Given the description of an element on the screen output the (x, y) to click on. 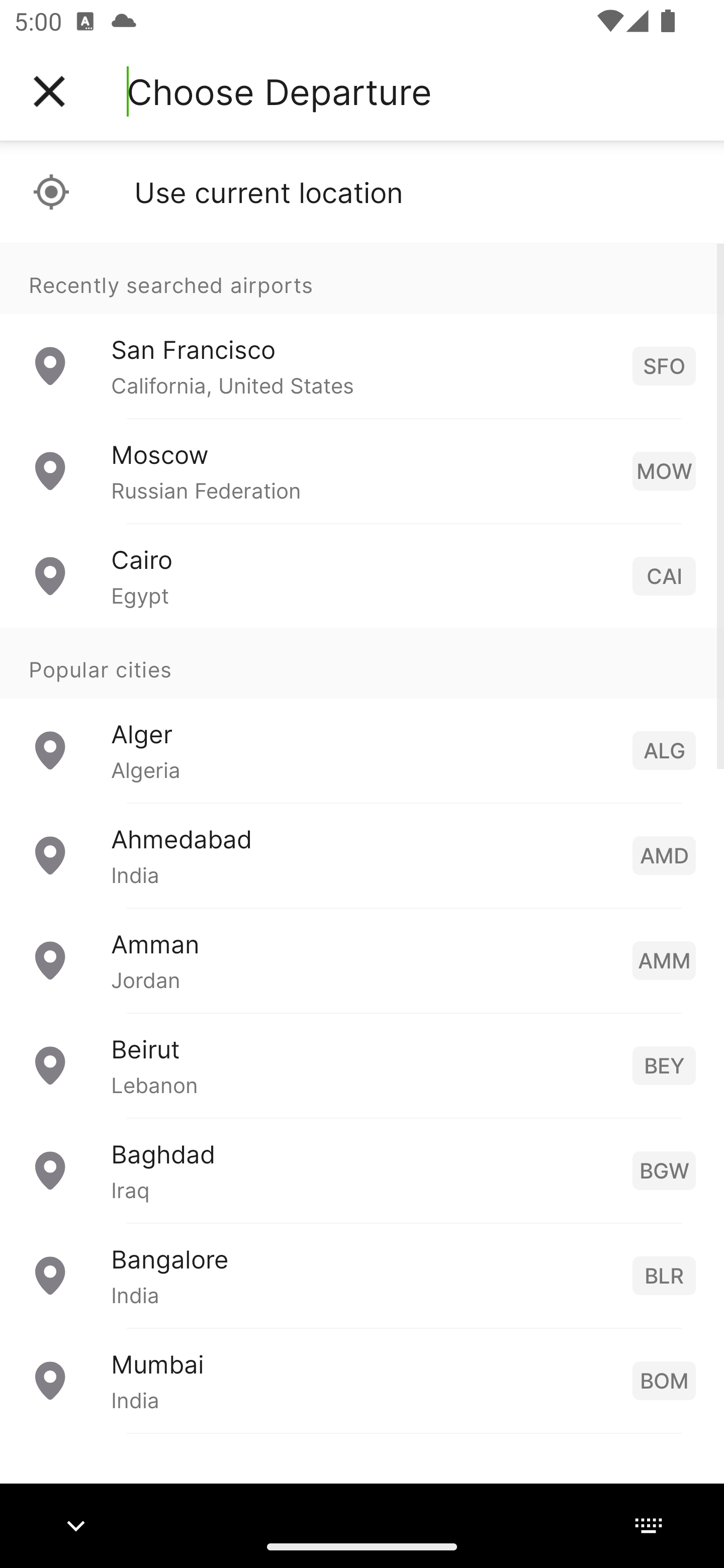
Choose Departure (279, 91)
Use current location (362, 192)
Recently searched airports (362, 278)
Moscow Russian Federation MOW (362, 470)
Cairo Egypt CAI (362, 575)
Popular cities Alger Algeria ALG (362, 715)
Popular cities (362, 663)
Ahmedabad India AMD (362, 854)
Amman Jordan AMM (362, 959)
Beirut Lebanon BEY (362, 1064)
Baghdad Iraq BGW (362, 1170)
Bangalore India BLR (362, 1275)
Mumbai India BOM (362, 1380)
